Given the description of an element on the screen output the (x, y) to click on. 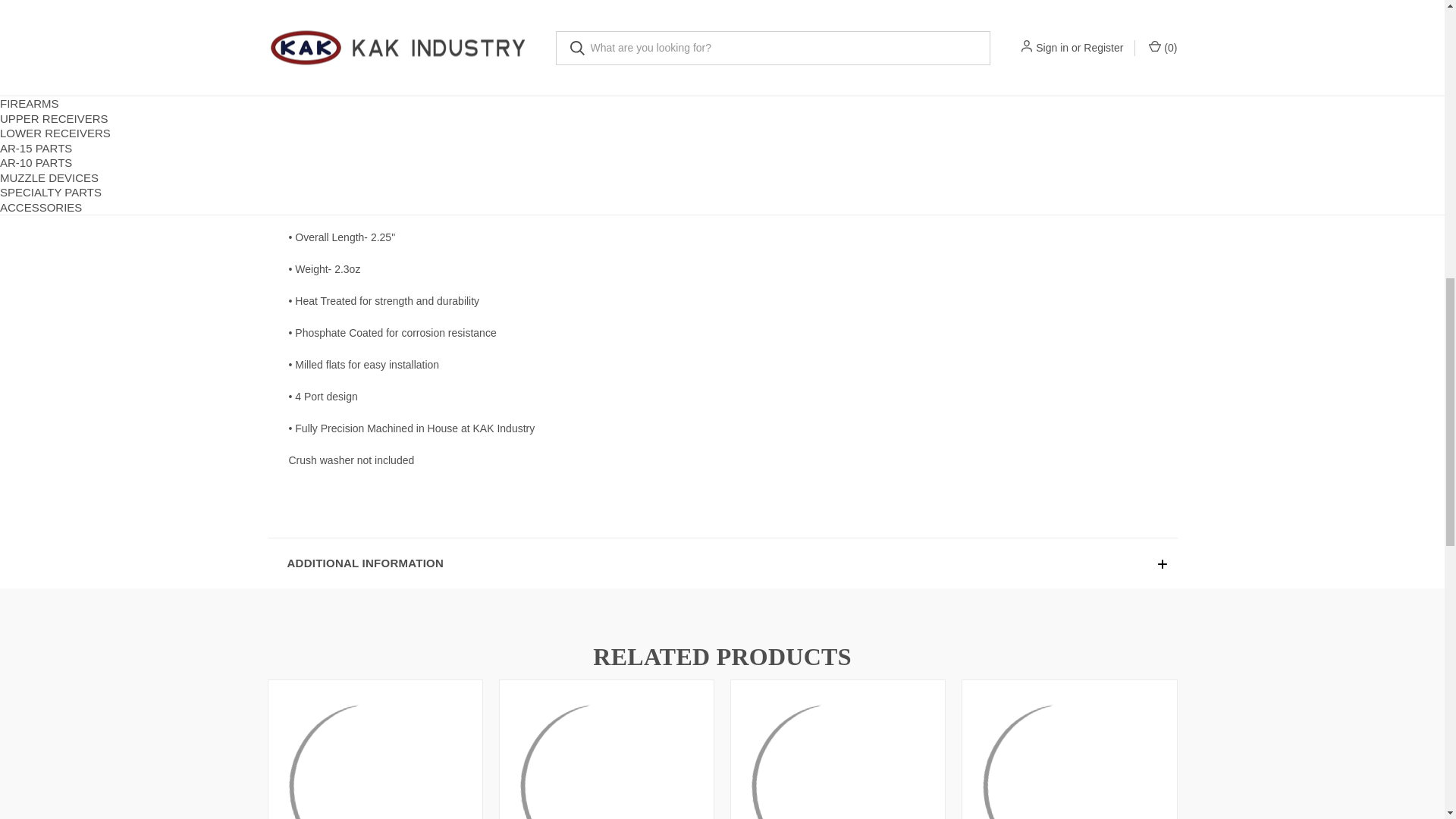
Add to Cart (890, 8)
